Given the description of an element on the screen output the (x, y) to click on. 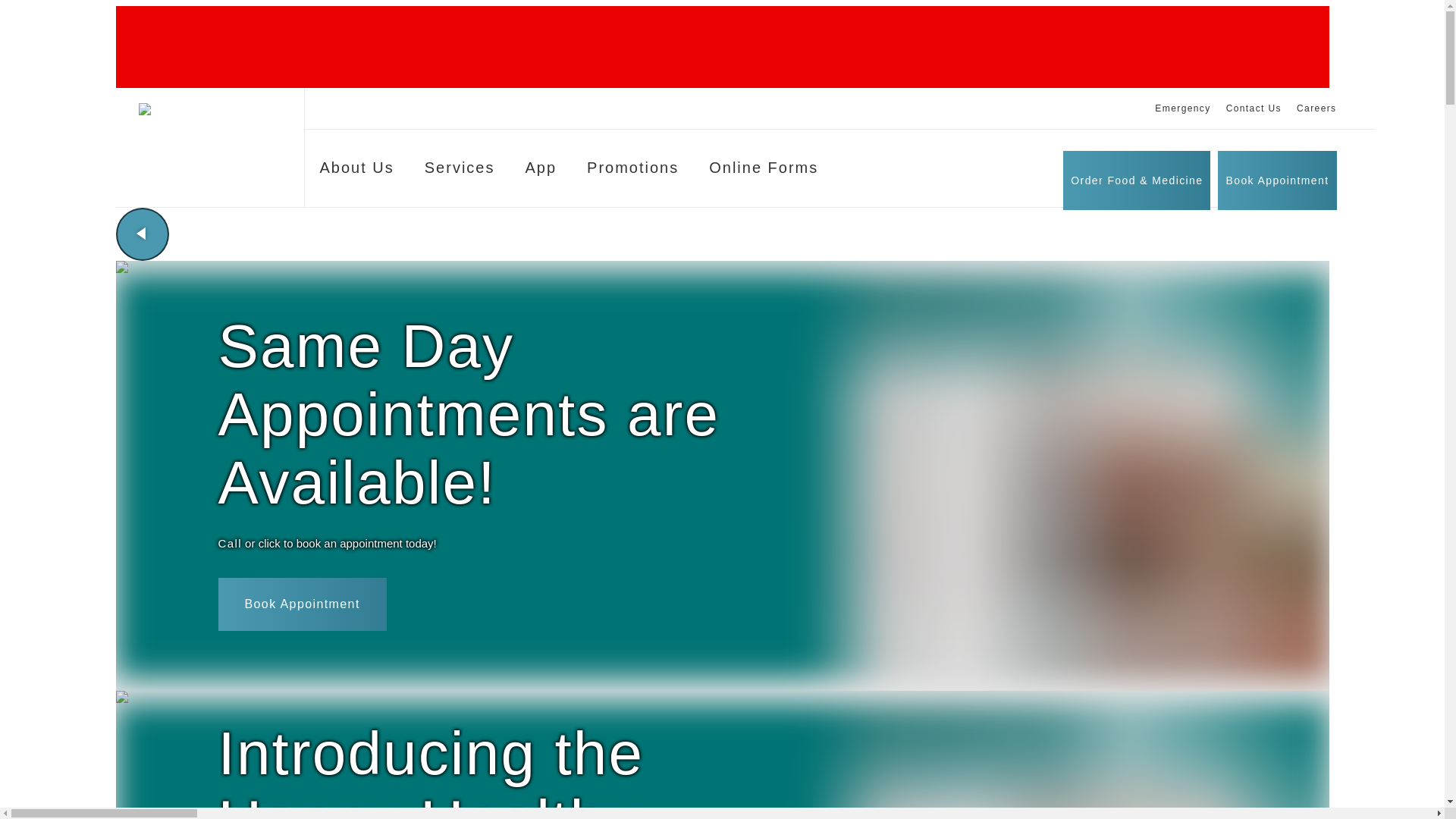
Services (460, 171)
Emergency (1181, 108)
Contact Us (1253, 108)
Promotions (632, 171)
Careers (1316, 108)
Contact Us (1253, 108)
Careers (1316, 108)
Marbletown Animal Hospital Logo (213, 116)
Call (229, 543)
Book Appointment (1276, 179)
